Given the description of an element on the screen output the (x, y) to click on. 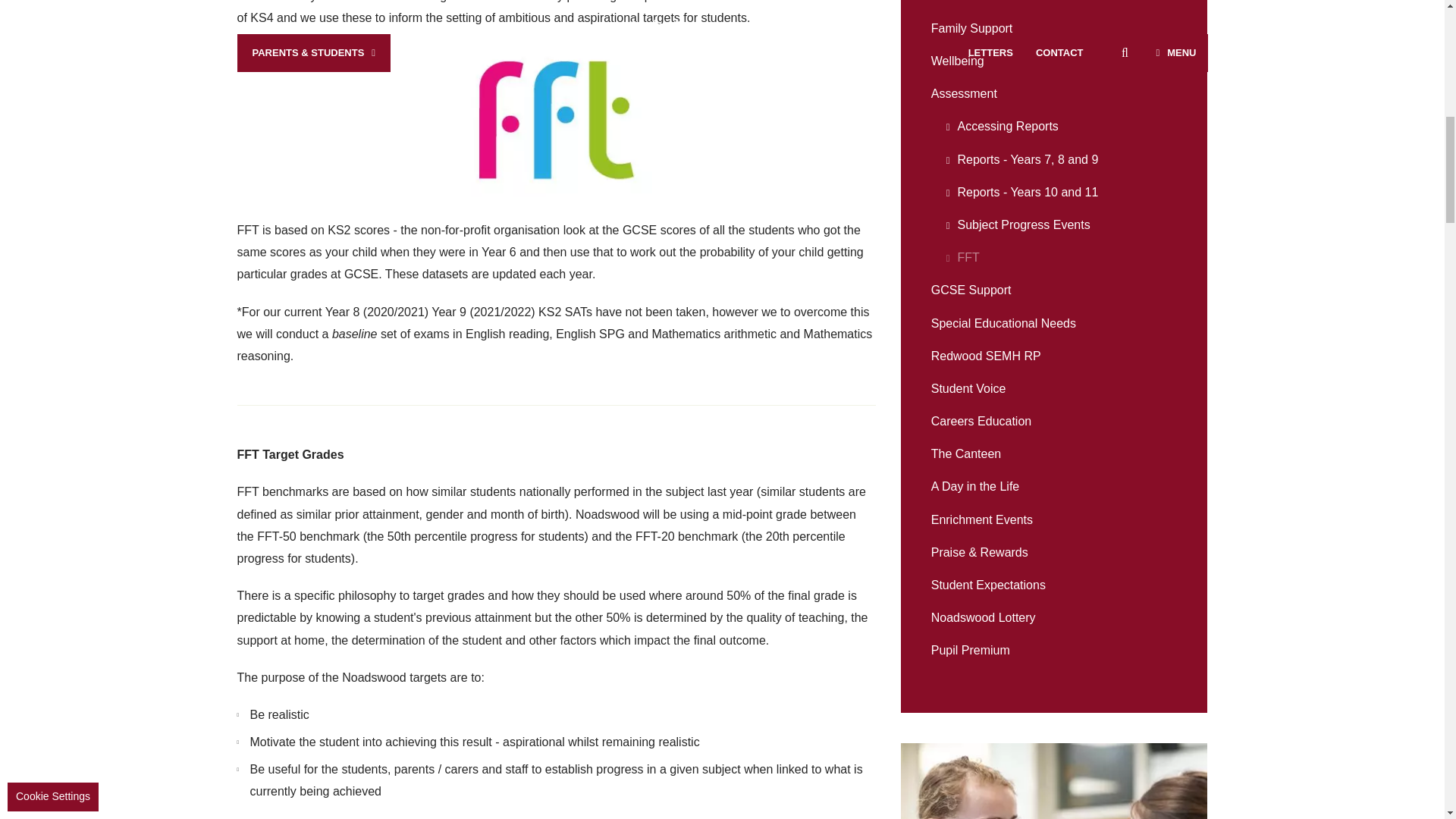
Virtual Tour (1054, 486)
